Given the description of an element on the screen output the (x, y) to click on. 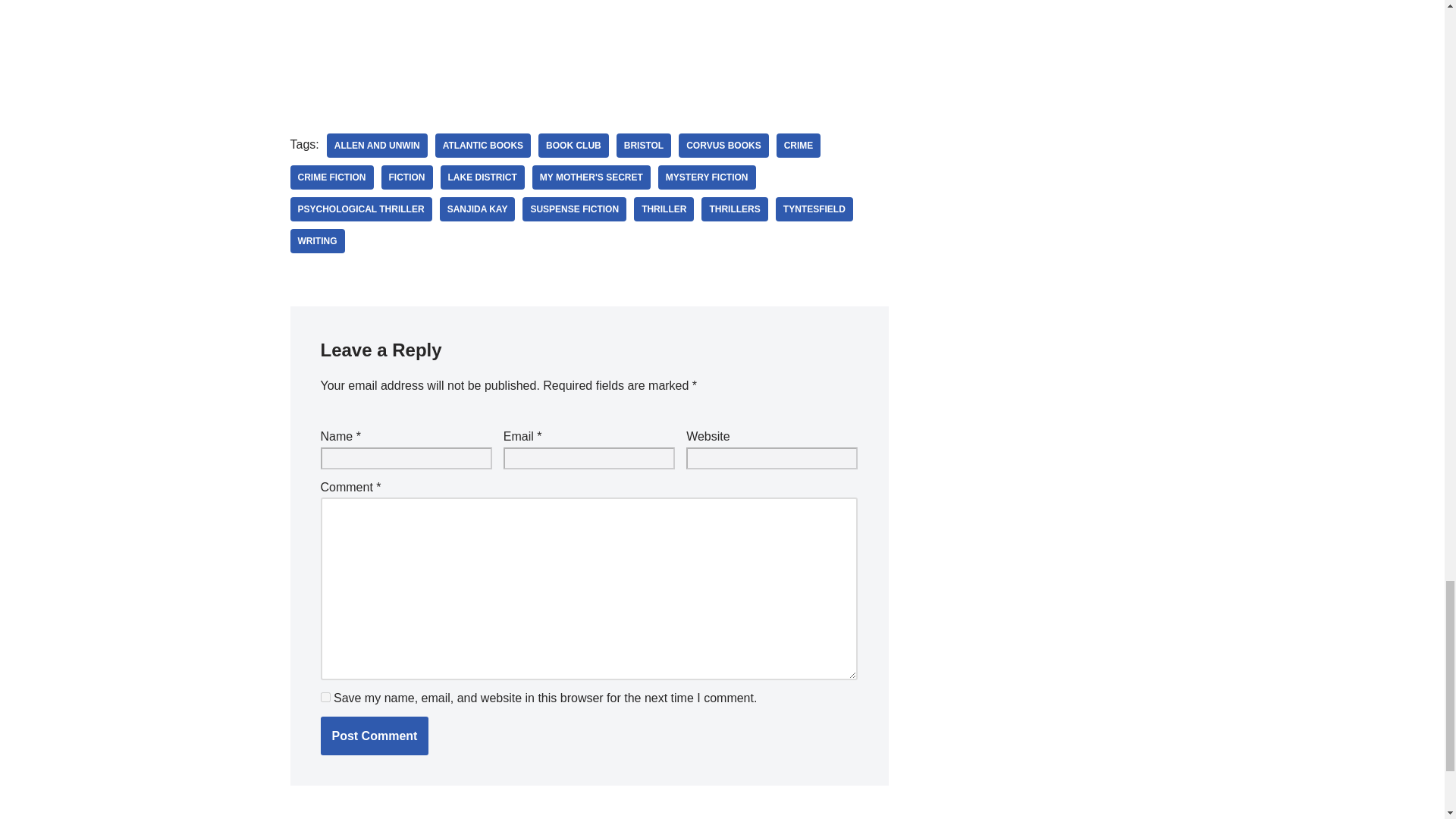
Atlantic Books (483, 145)
Allen and Unwin (377, 145)
crime fiction (330, 177)
Psychological thriller (359, 209)
fiction (406, 177)
Lake District (481, 177)
mystery fiction (706, 177)
Post Comment (374, 735)
Bristol (643, 145)
crime (798, 145)
book club (573, 145)
Corvus Books (723, 145)
Sanjida Kay (477, 209)
yes (325, 696)
My Mother's Secret (591, 177)
